Given the description of an element on the screen output the (x, y) to click on. 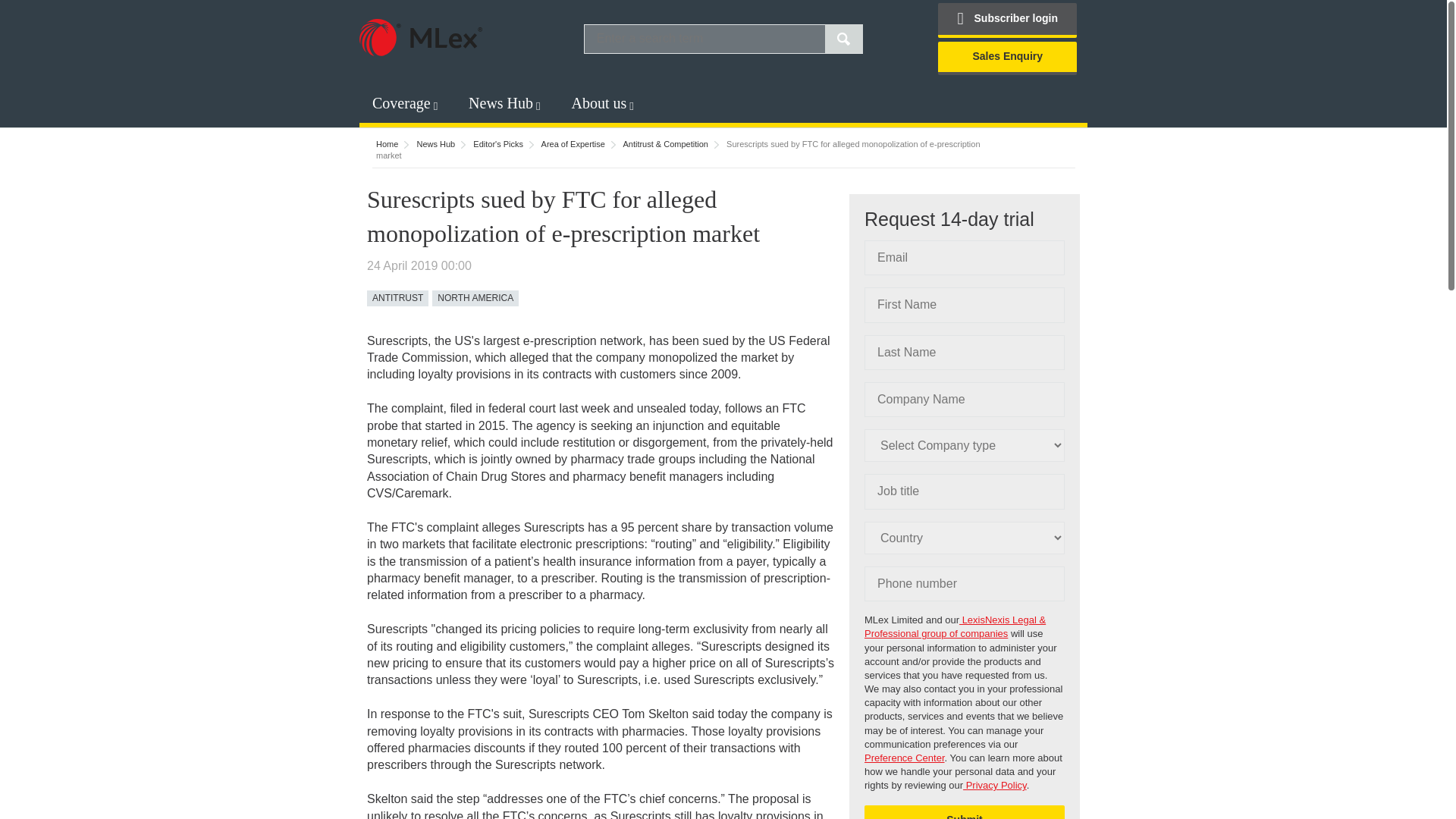
Sales Enquiry (1007, 58)
Submit (964, 812)
Search (844, 38)
Subscriber login (1007, 20)
Search (844, 38)
News Hub (500, 103)
Coverage (401, 103)
